Given the description of an element on the screen output the (x, y) to click on. 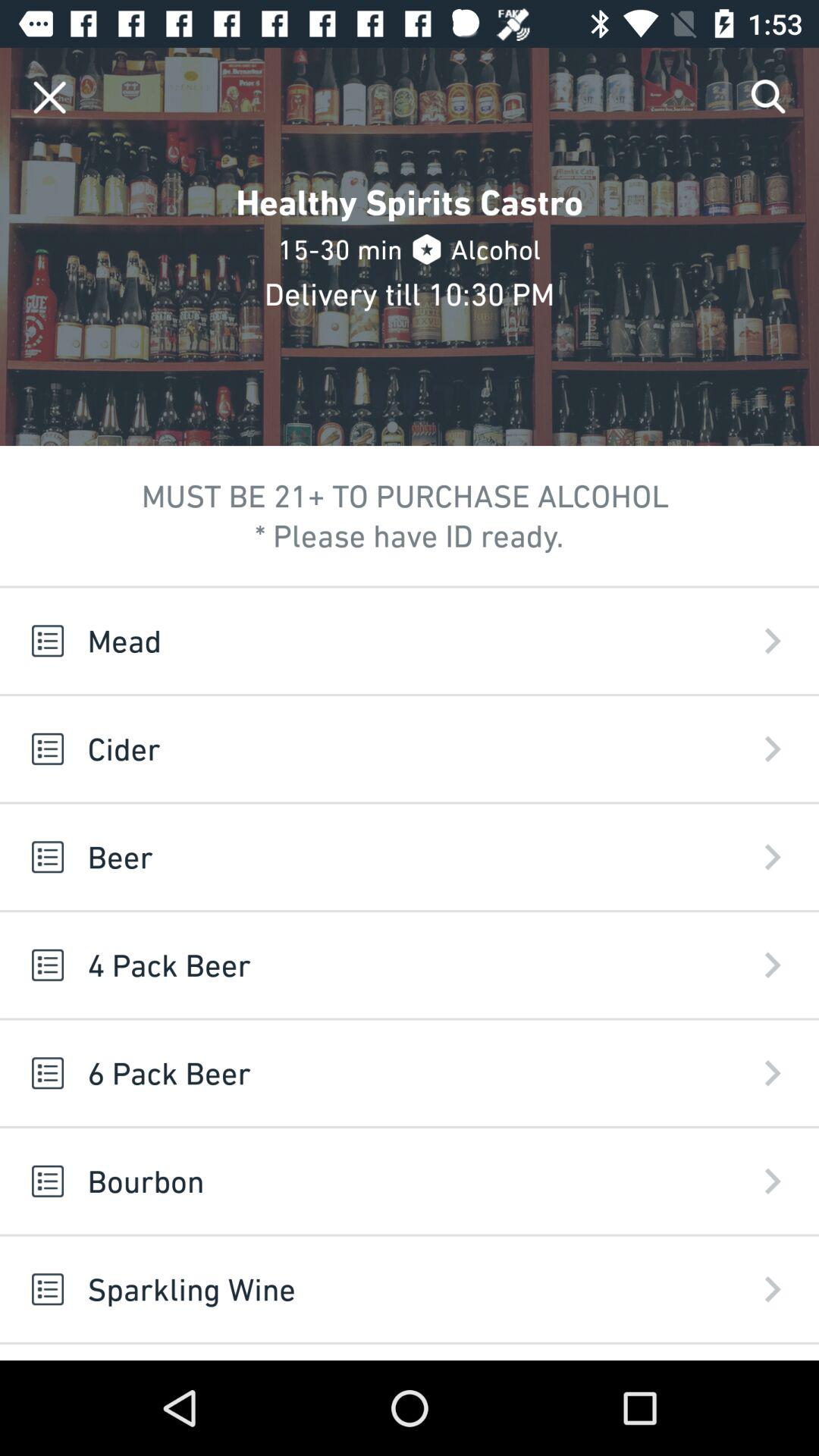
choose app above mead icon (49, 97)
